Given the description of an element on the screen output the (x, y) to click on. 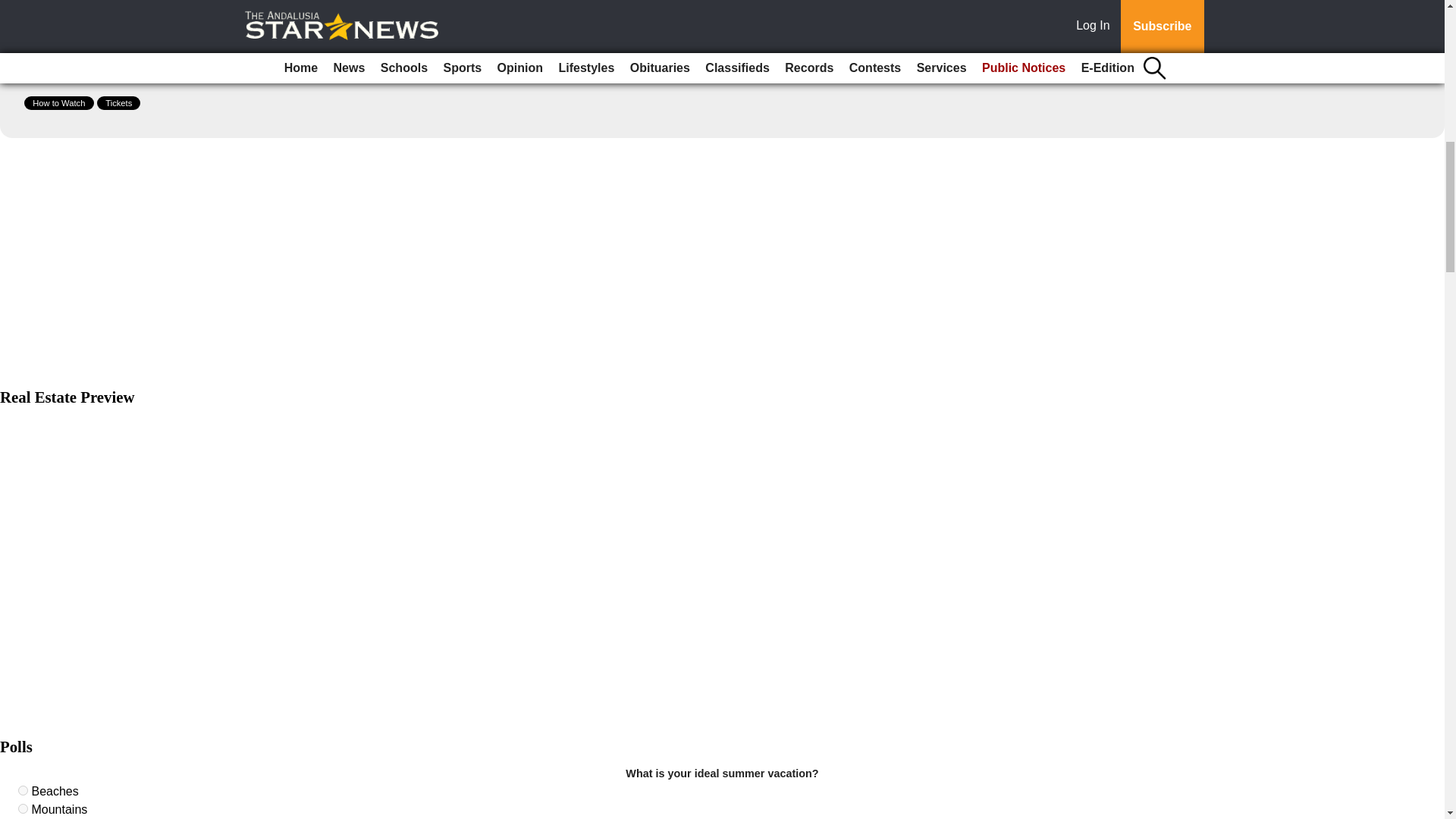
744 (22, 790)
How to Watch (59, 102)
745 (22, 808)
WNBA Betting Picks: Friday, August 16 (140, 51)
Tickets (118, 102)
